Given the description of an element on the screen output the (x, y) to click on. 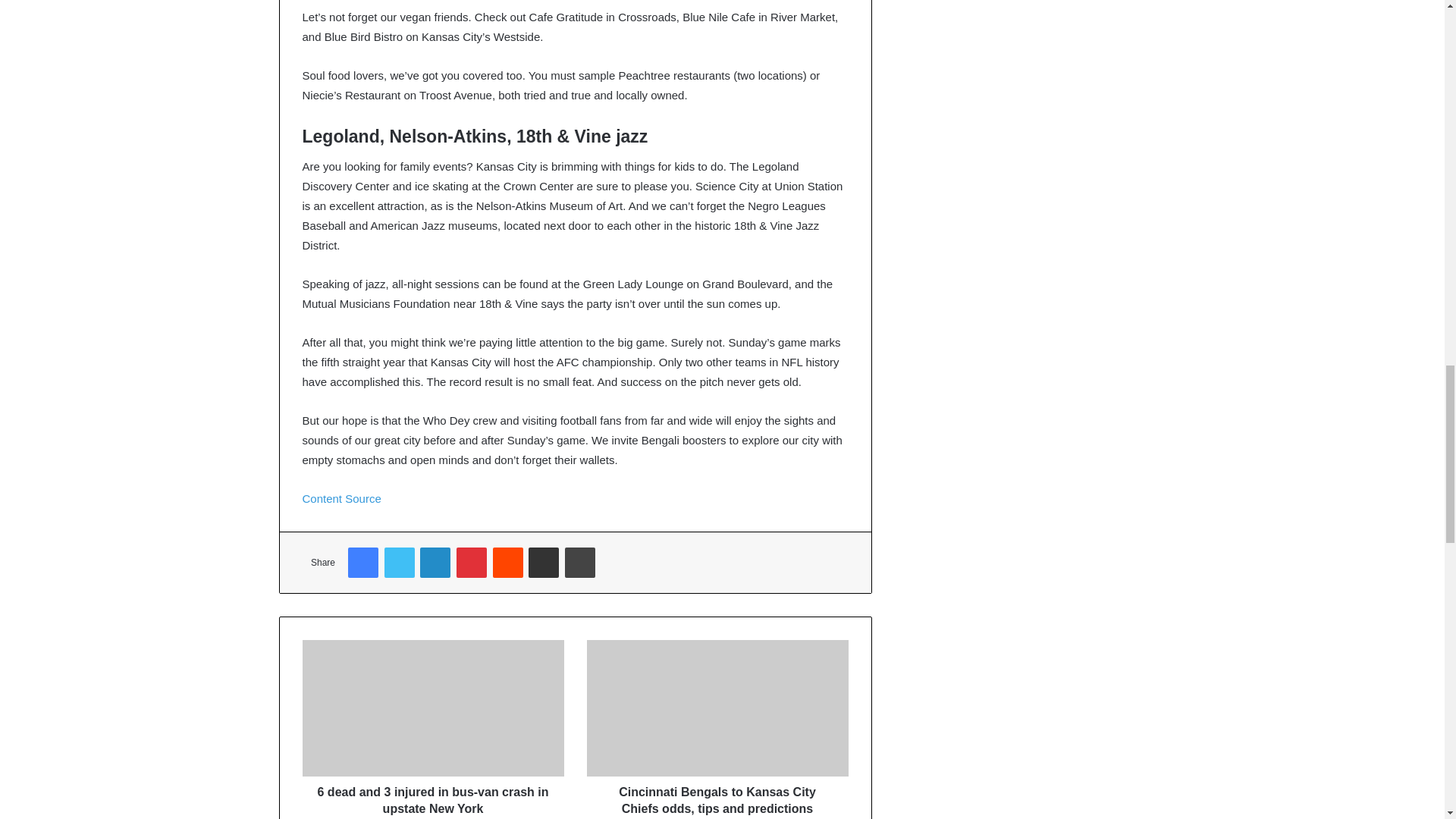
Facebook (362, 562)
Twitter (399, 562)
Pinterest (471, 562)
Facebook (362, 562)
6 dead and 3 injured in bus-van crash in upstate New York (432, 796)
Share via Email (543, 562)
LinkedIn (434, 562)
Reddit (507, 562)
Twitter (399, 562)
Content Source (340, 498)
Print (579, 562)
LinkedIn (434, 562)
